Given the description of an element on the screen output the (x, y) to click on. 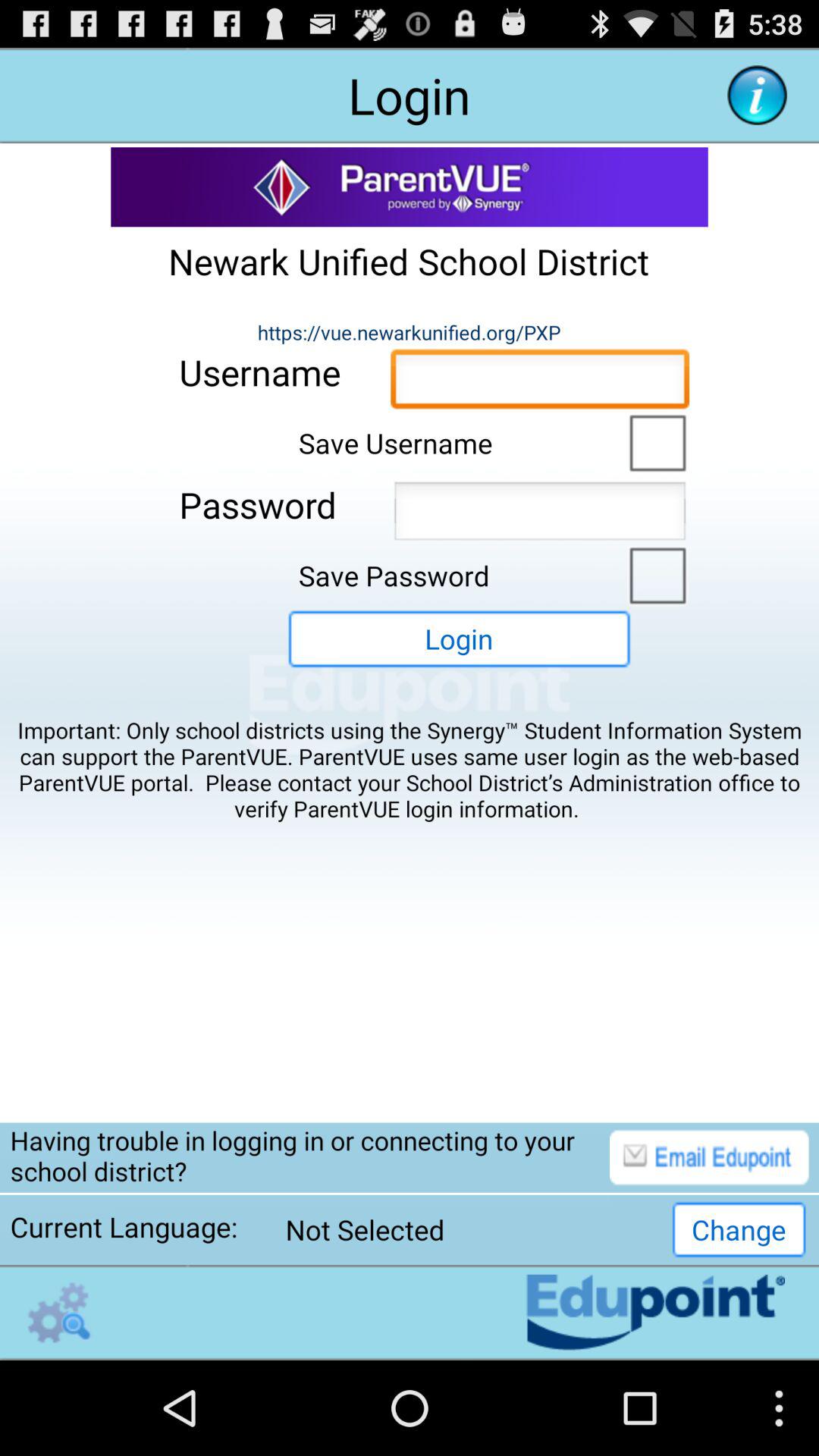
go to settings (59, 1312)
